Given the description of an element on the screen output the (x, y) to click on. 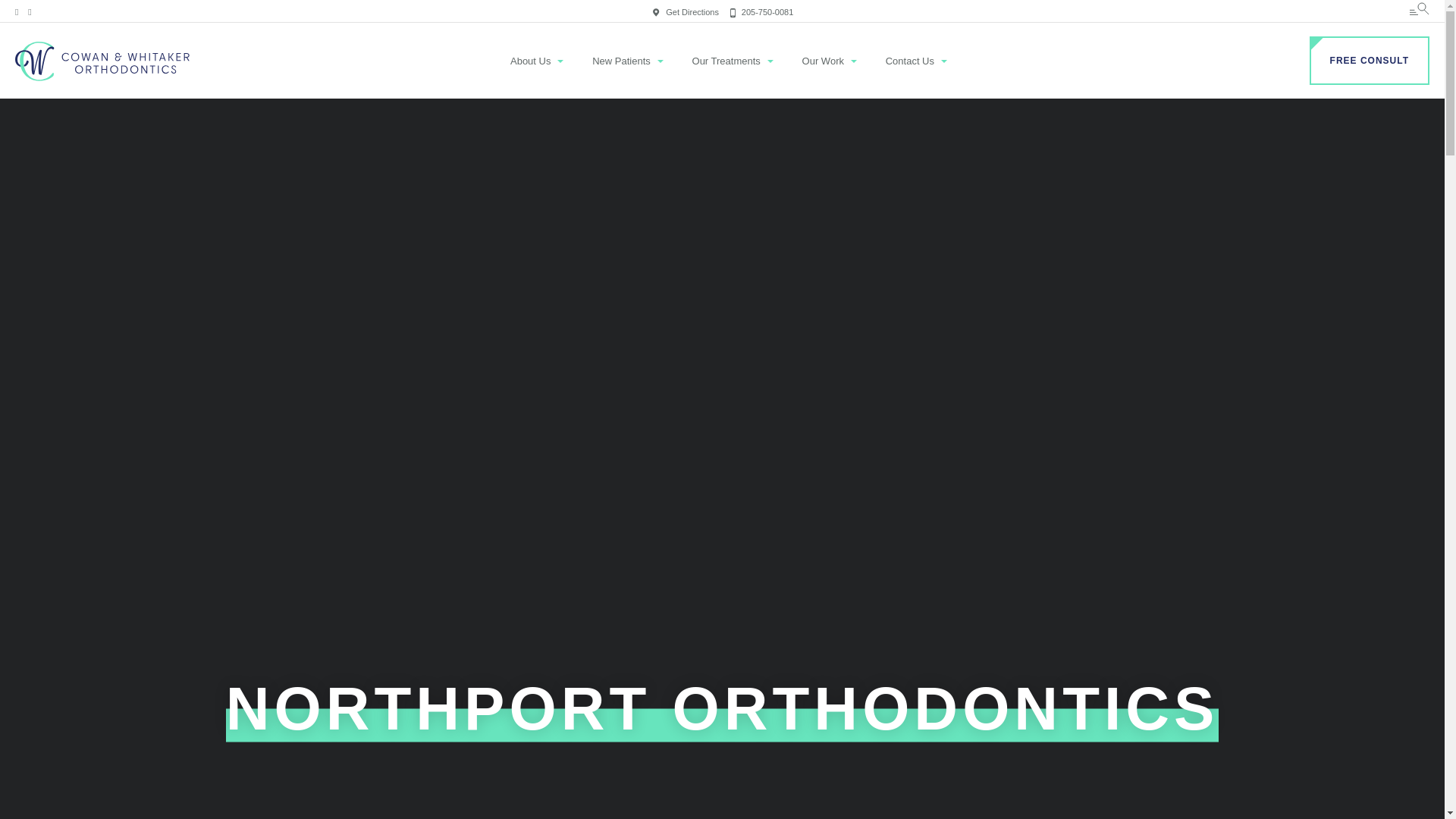
Our Work (823, 60)
About Us (530, 60)
Our Treatments (726, 60)
205-750-0081 (761, 11)
Search (26, 15)
Contact Us (909, 60)
New Patients (621, 60)
Get Directions (685, 11)
